Given the description of an element on the screen output the (x, y) to click on. 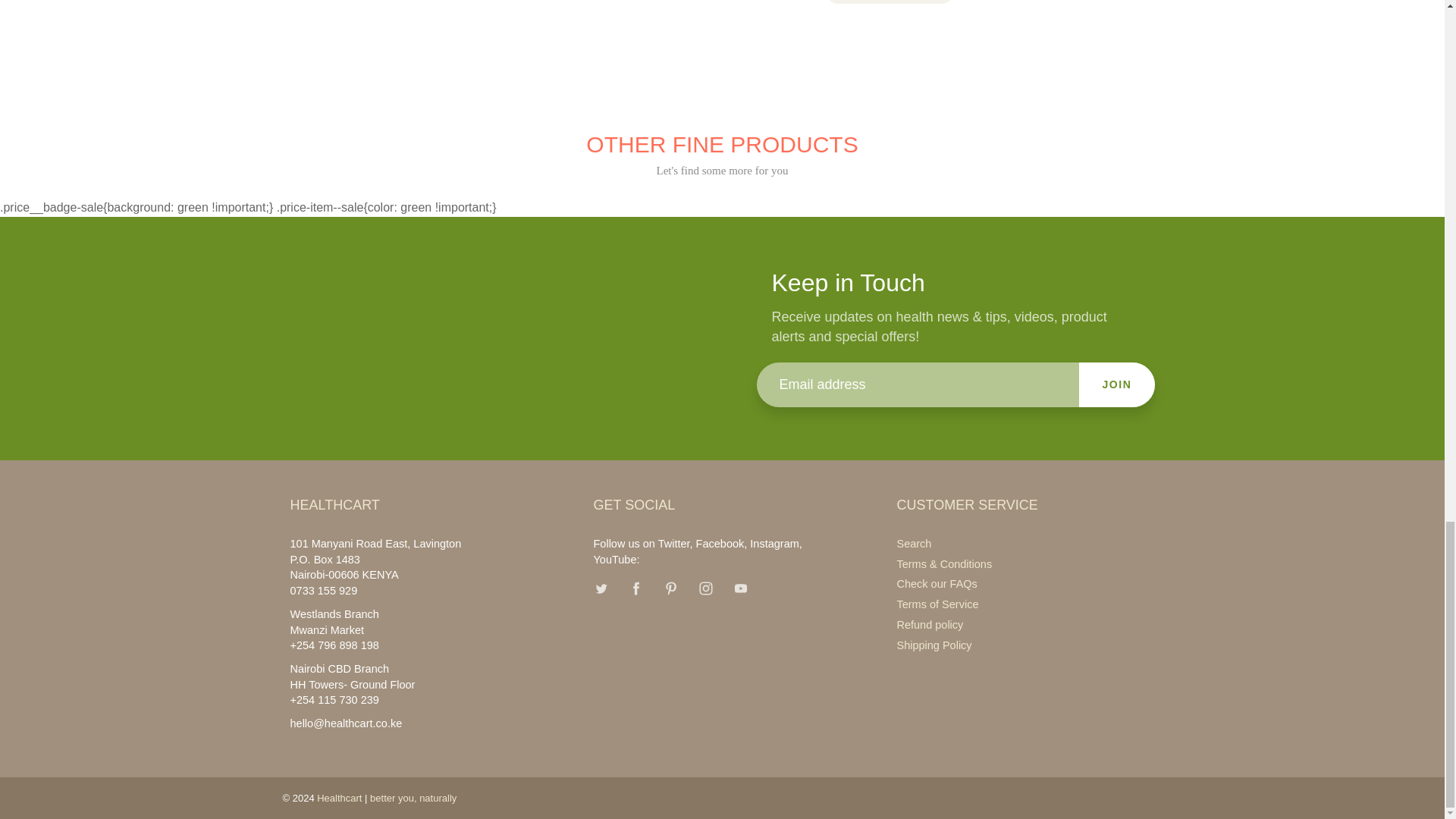
Twitter (601, 587)
Pinterest (671, 587)
Instagram (706, 587)
YouTube (741, 587)
Facebook (636, 587)
